Given the description of an element on the screen output the (x, y) to click on. 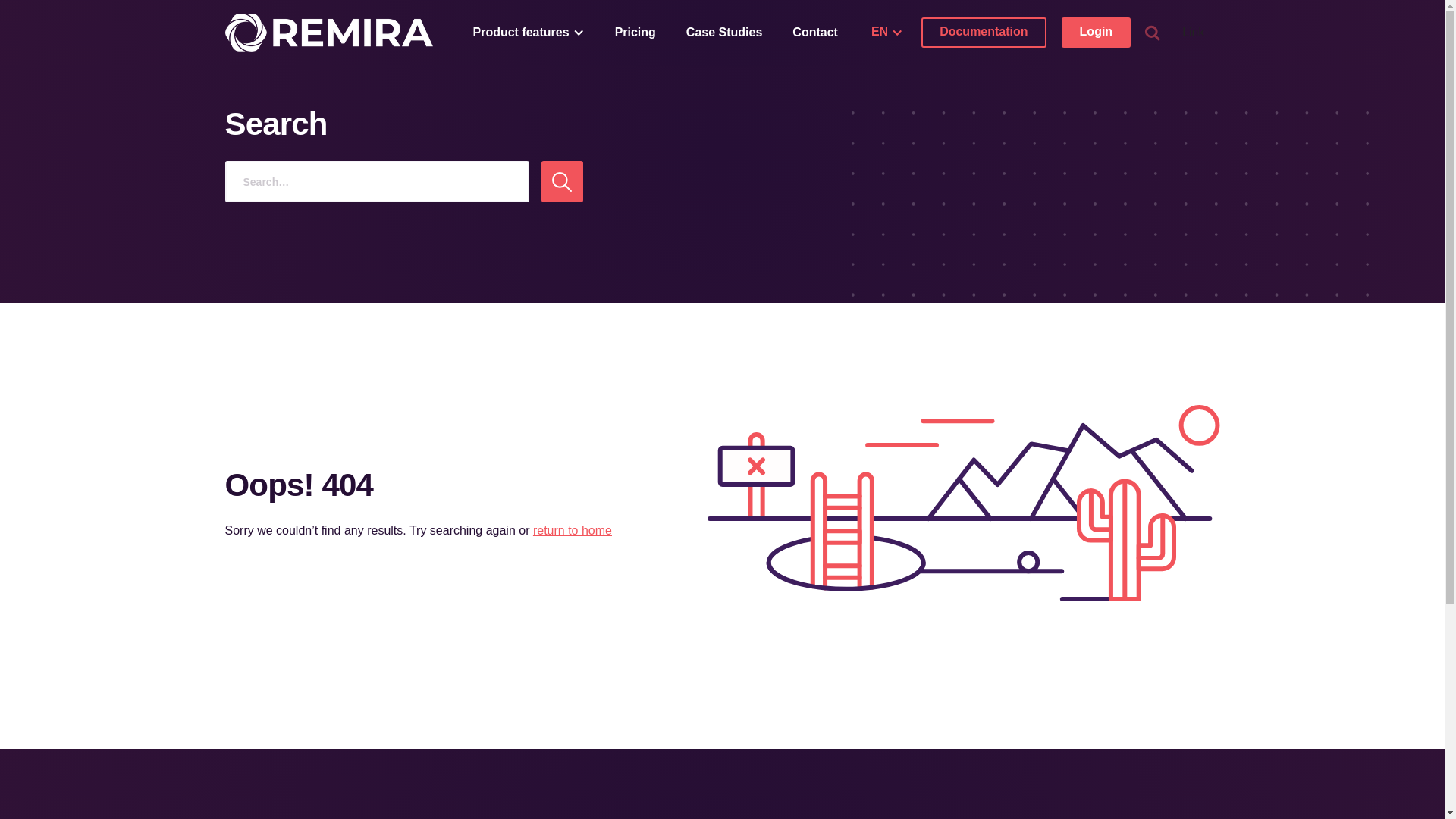
Contact Element type: text (815, 32)
Pricing Element type: text (635, 32)
return to home Element type: text (572, 530)
Link Element type: text (1193, 32)
Case Studies Element type: text (724, 32)
Login Element type: text (1096, 32)
Documentation Element type: text (983, 32)
